Given the description of an element on the screen output the (x, y) to click on. 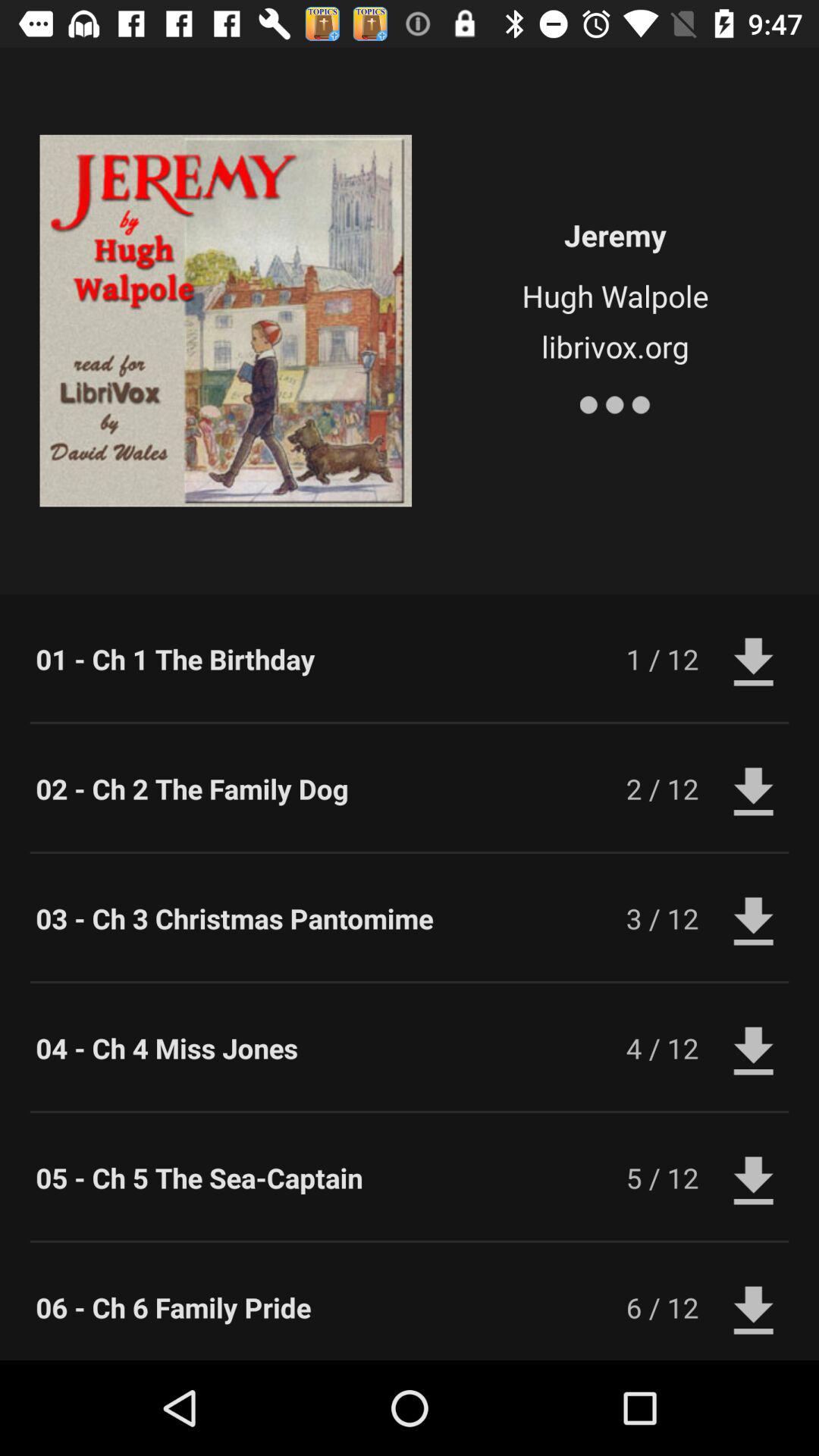
tap the item above the 01 ch 1 icon (615, 401)
